Given the description of an element on the screen output the (x, y) to click on. 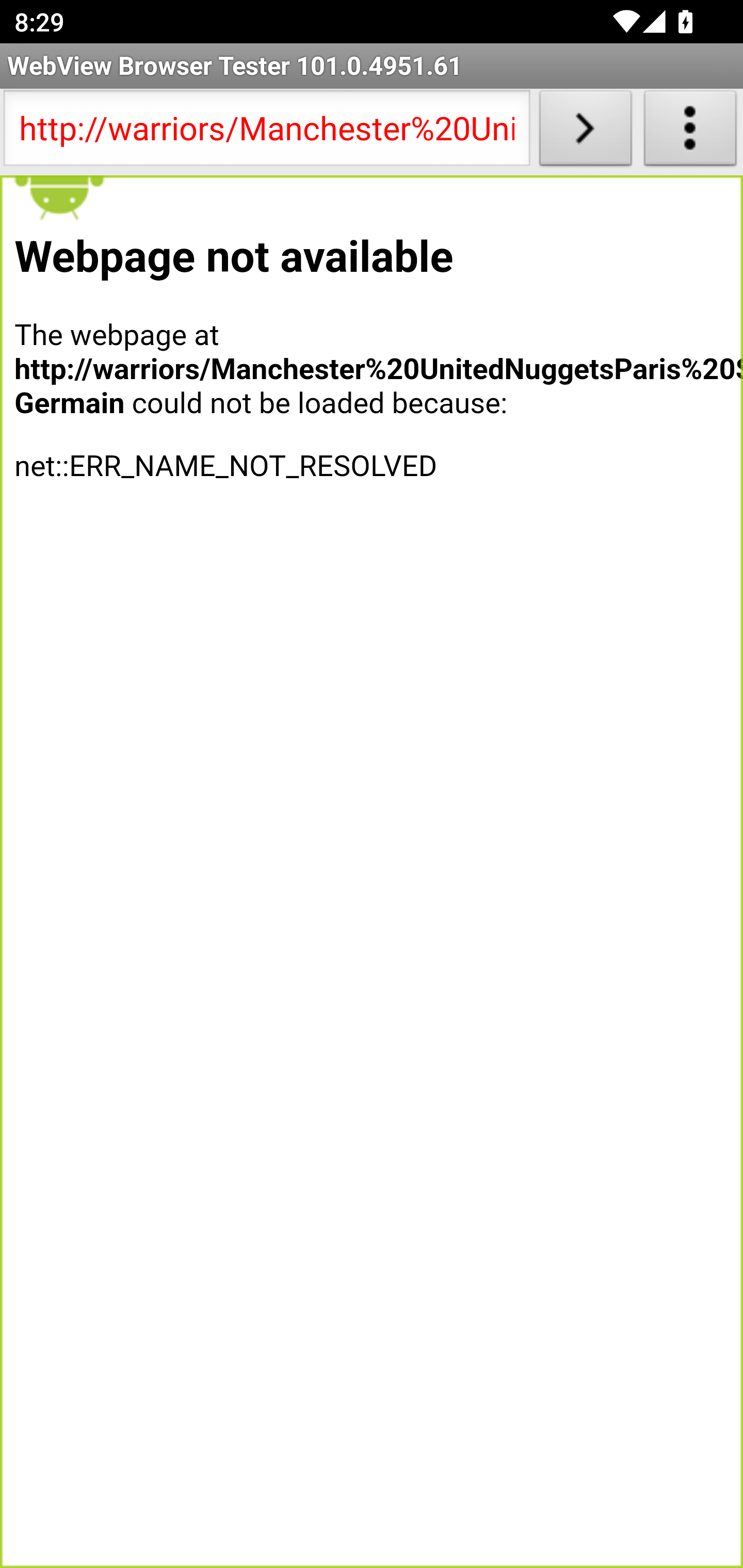
Load URL (585, 132)
About WebView (690, 132)
